Given the description of an element on the screen output the (x, y) to click on. 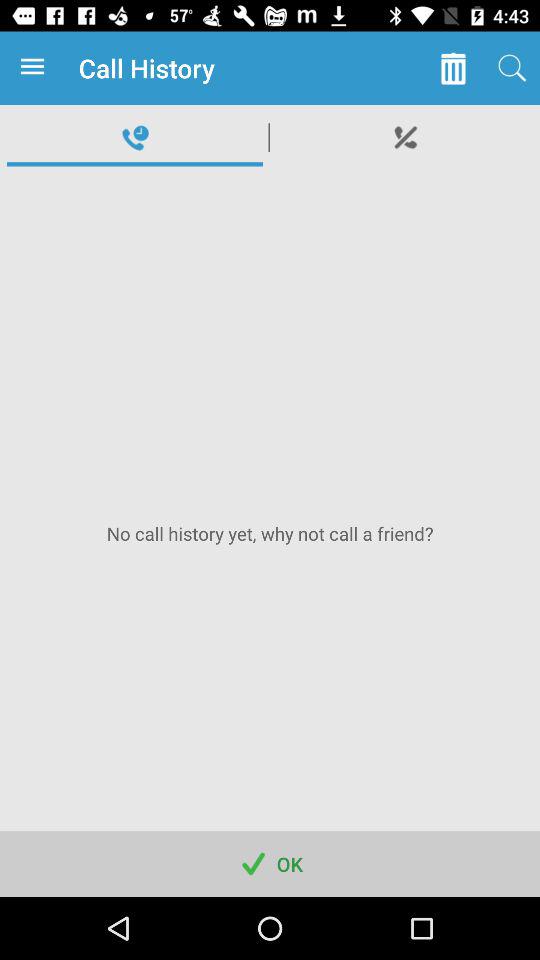
launch item to the left of the call history app (36, 68)
